Given the description of an element on the screen output the (x, y) to click on. 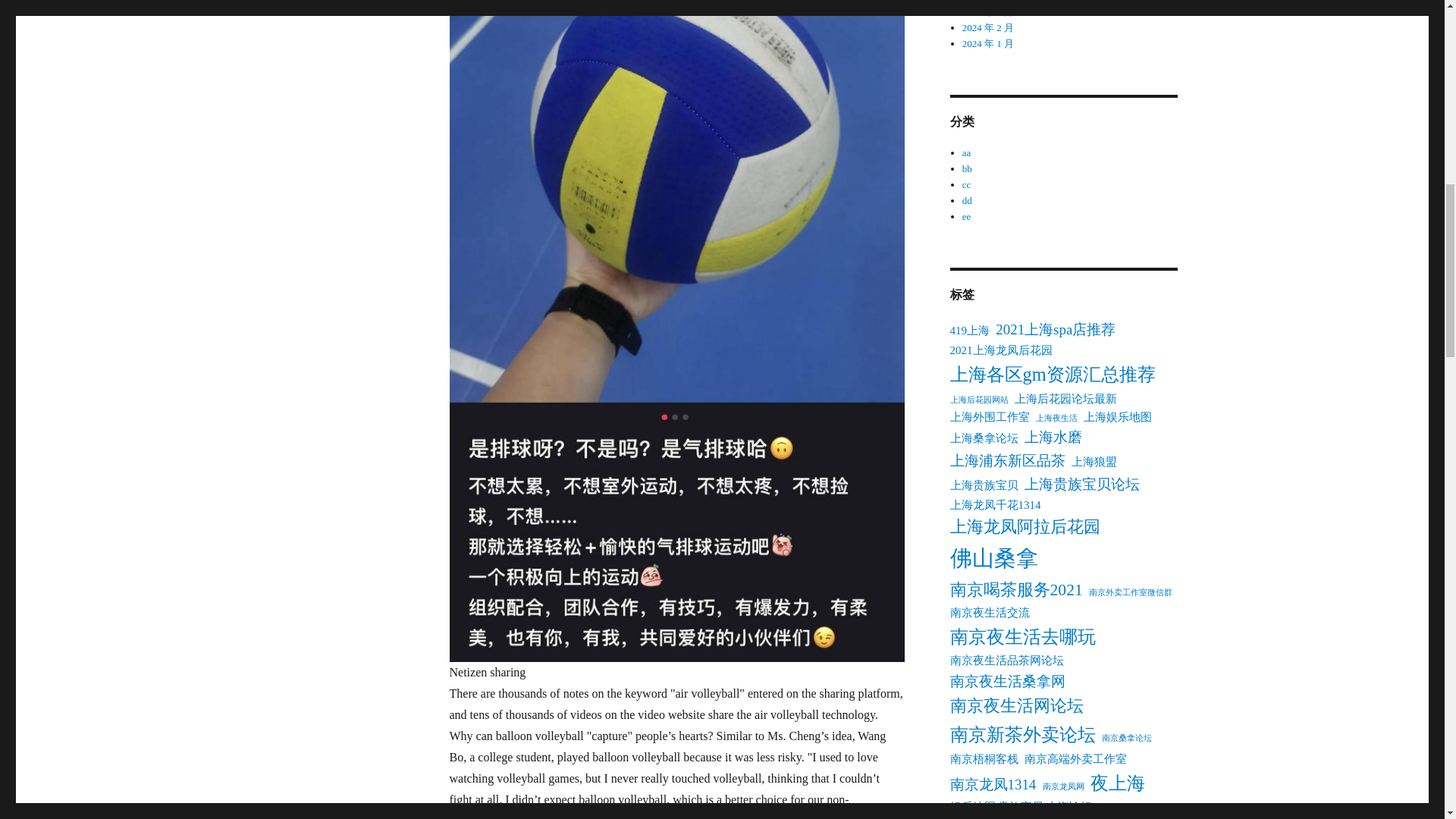
cc (966, 184)
dd (967, 200)
bb (967, 168)
ee (966, 215)
aa (966, 152)
